Given the description of an element on the screen output the (x, y) to click on. 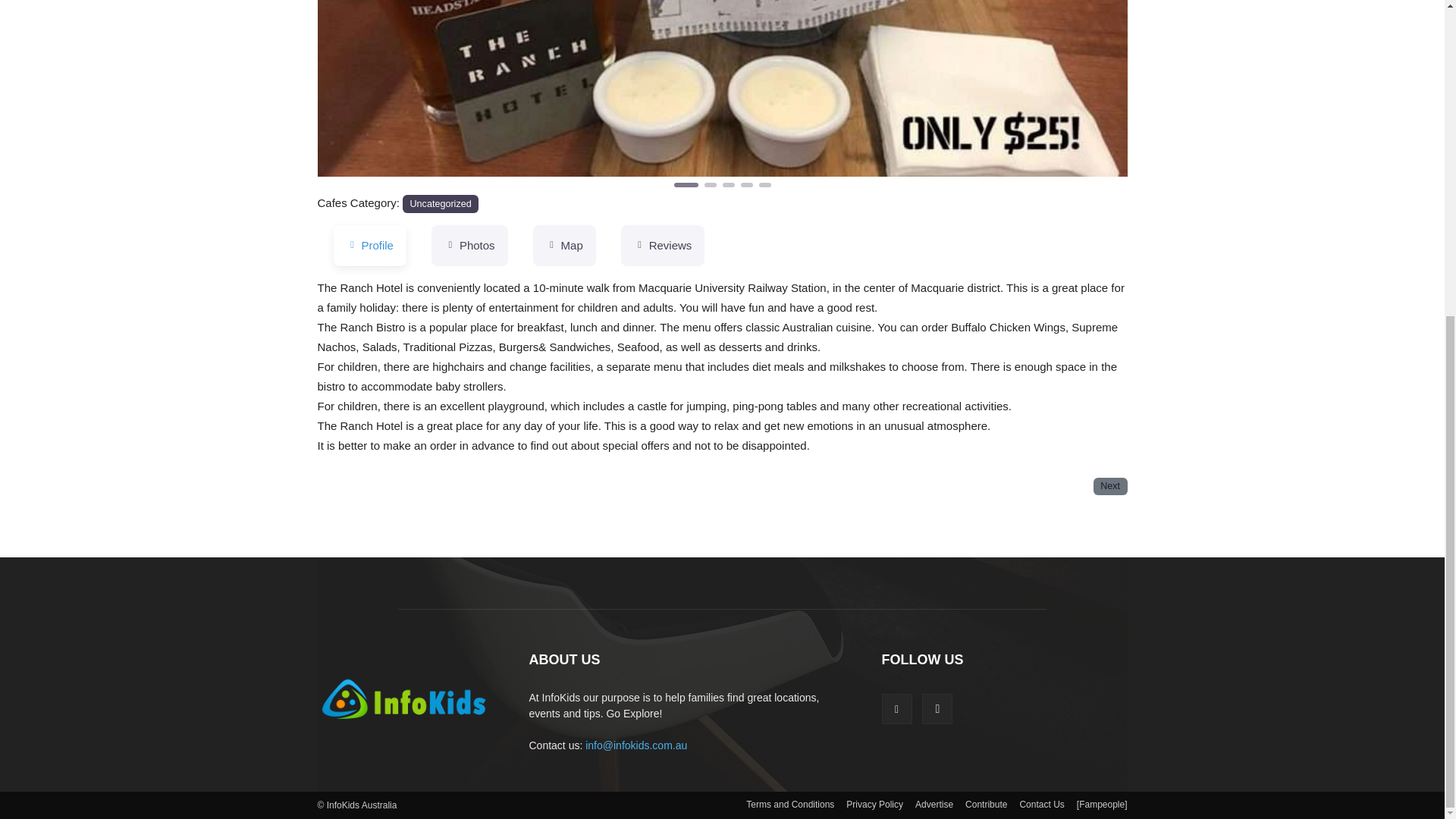
Profile (369, 245)
Instagram (936, 708)
Facebook (895, 708)
Map (563, 245)
Photos (469, 245)
Reviews (662, 245)
